Given the description of an element on the screen output the (x, y) to click on. 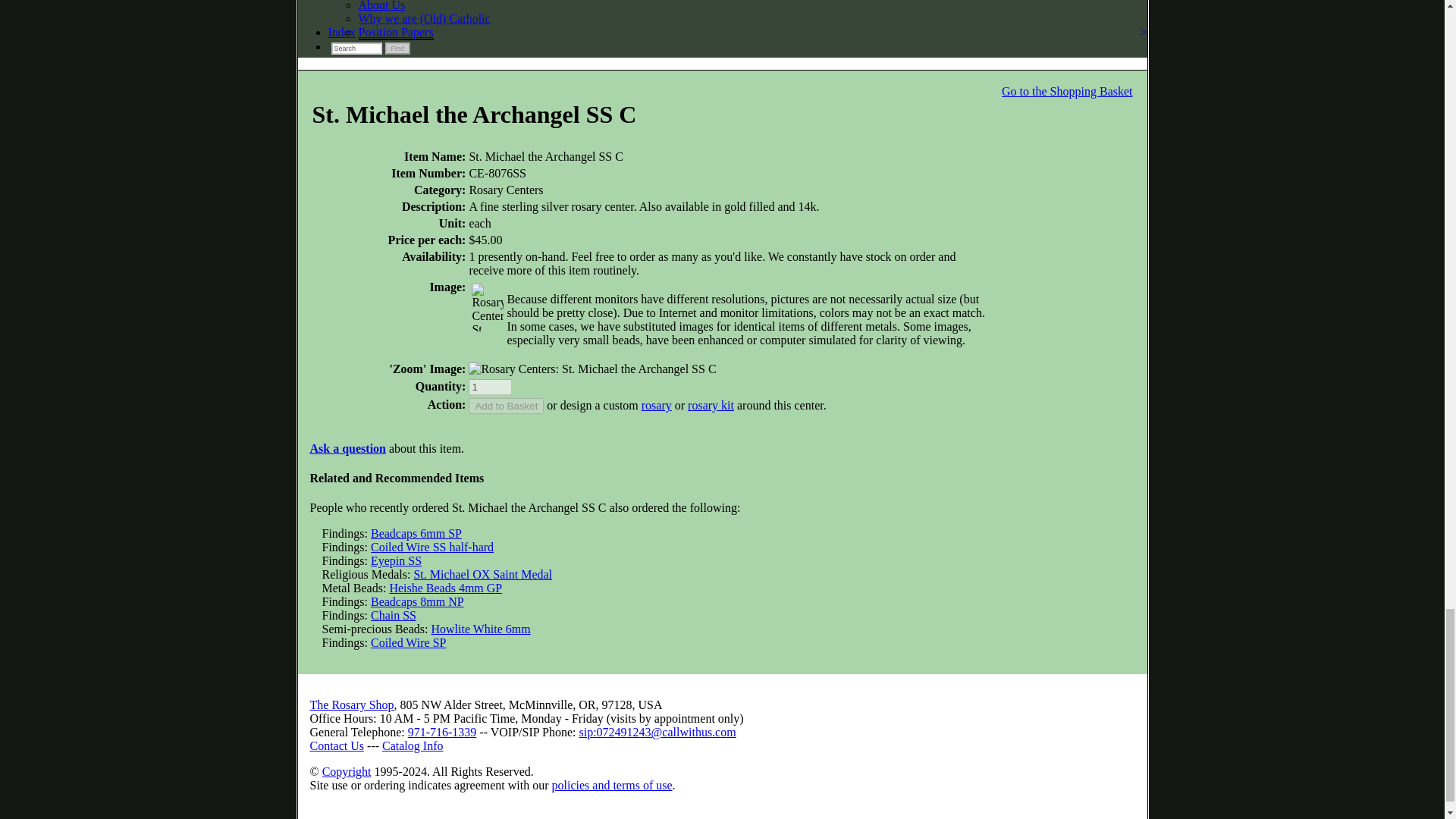
1 (490, 386)
Search Inventory (355, 48)
Find (397, 48)
Search (355, 48)
Add to Basket (505, 406)
